Given the description of an element on the screen output the (x, y) to click on. 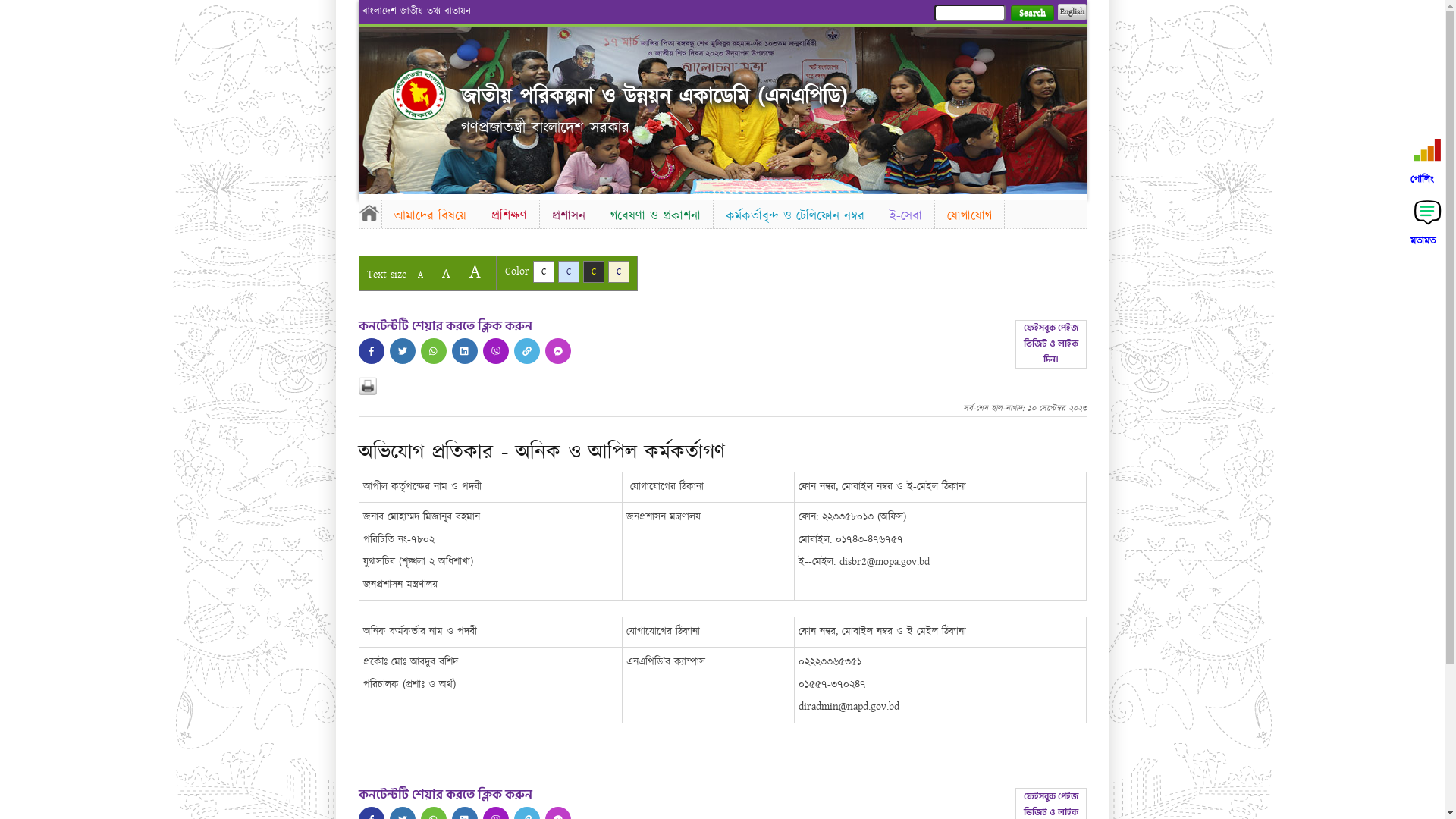
Search Element type: text (1031, 13)
C Element type: text (542, 271)
C Element type: text (592, 271)
Home Element type: hover (368, 211)
A Element type: text (445, 273)
A Element type: text (474, 271)
English Element type: text (1071, 11)
C Element type: text (568, 271)
C Element type: text (618, 271)
Home Element type: hover (418, 93)
A Element type: text (419, 274)
